Given the description of an element on the screen output the (x, y) to click on. 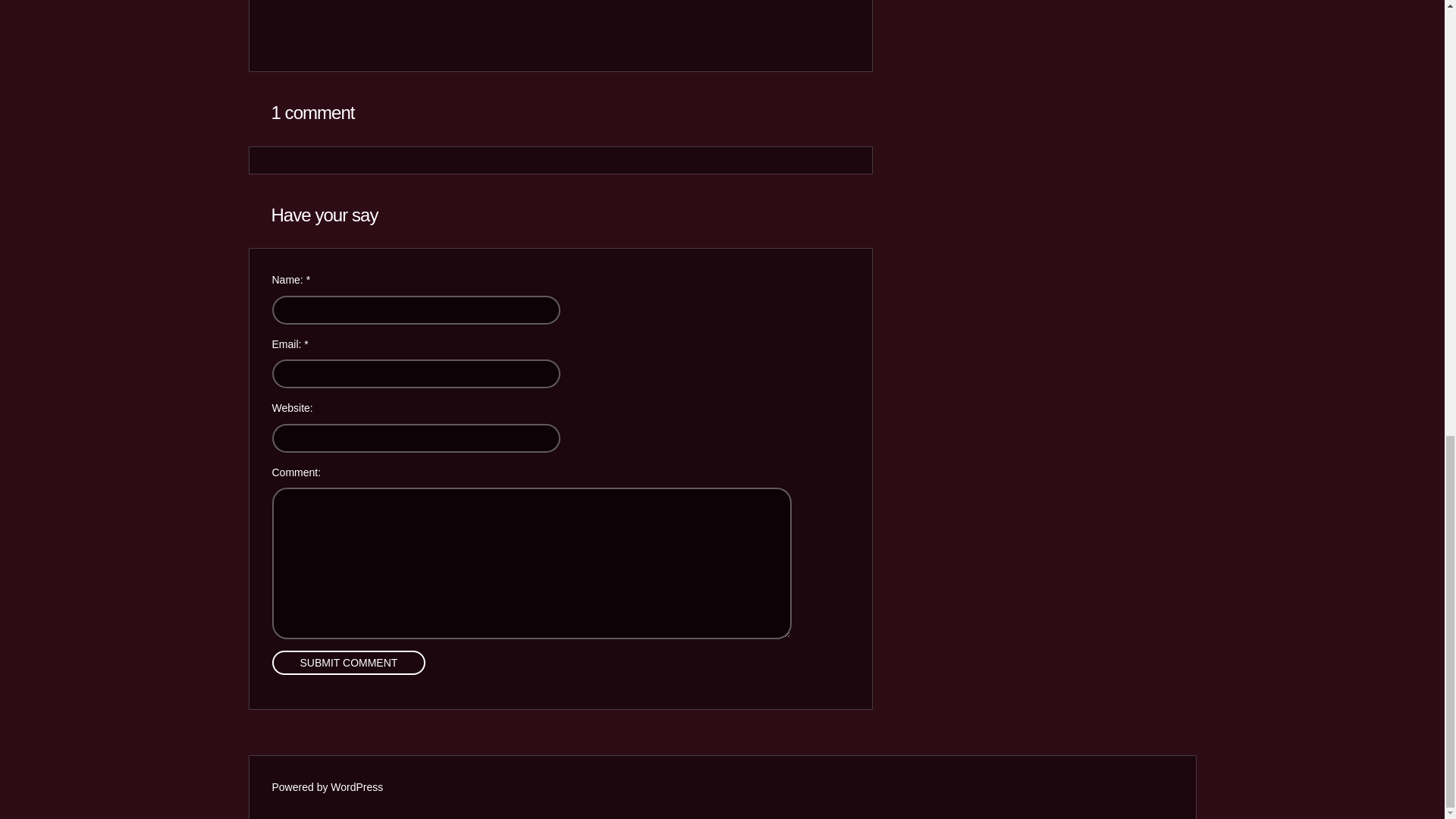
Submit Comment (347, 662)
Submit Comment (347, 662)
Powered by WordPress (326, 787)
